Given the description of an element on the screen output the (x, y) to click on. 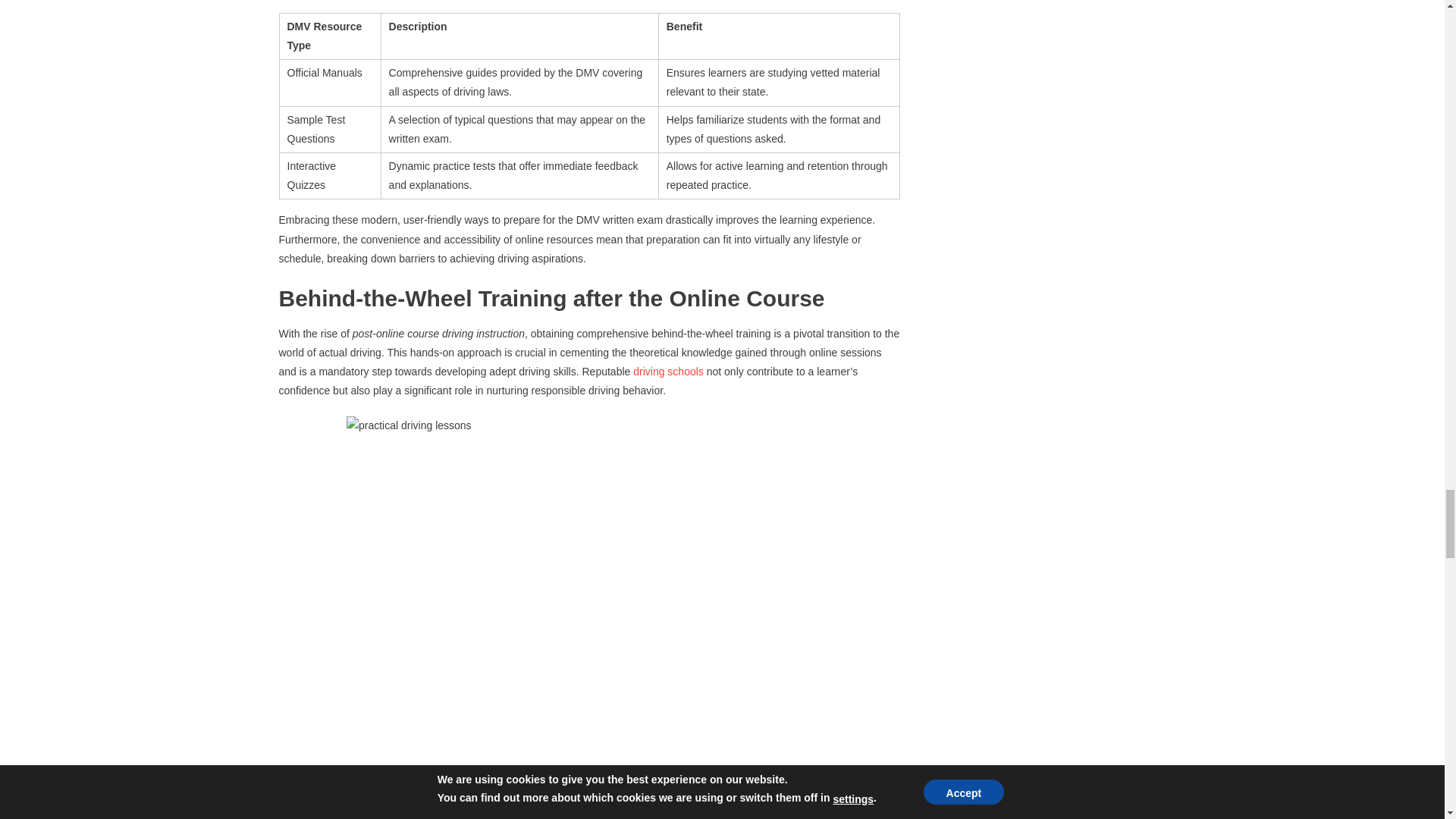
driving schools (668, 371)
